Given the description of an element on the screen output the (x, y) to click on. 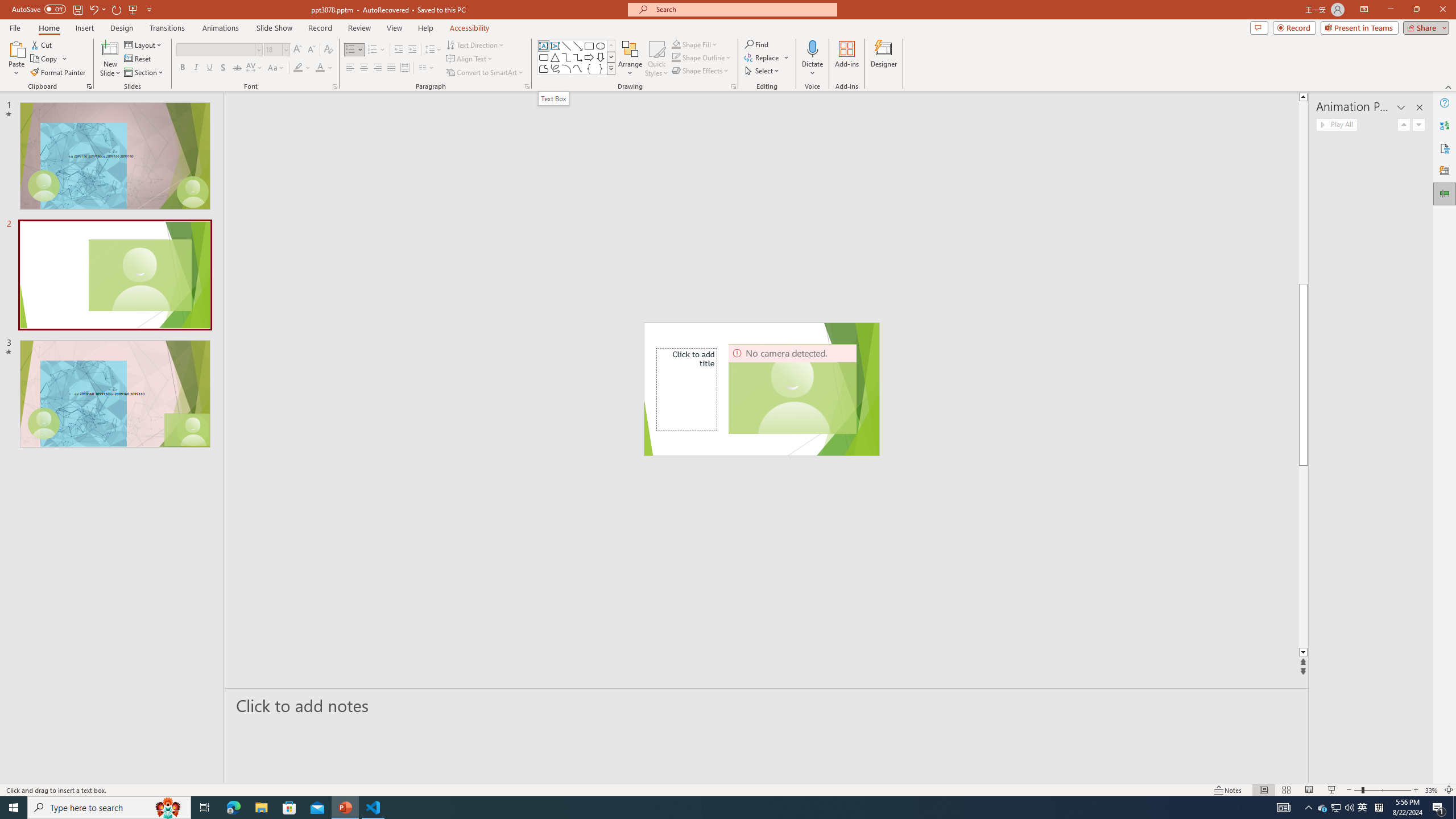
Animation Pane (1444, 193)
